Given the description of an element on the screen output the (x, y) to click on. 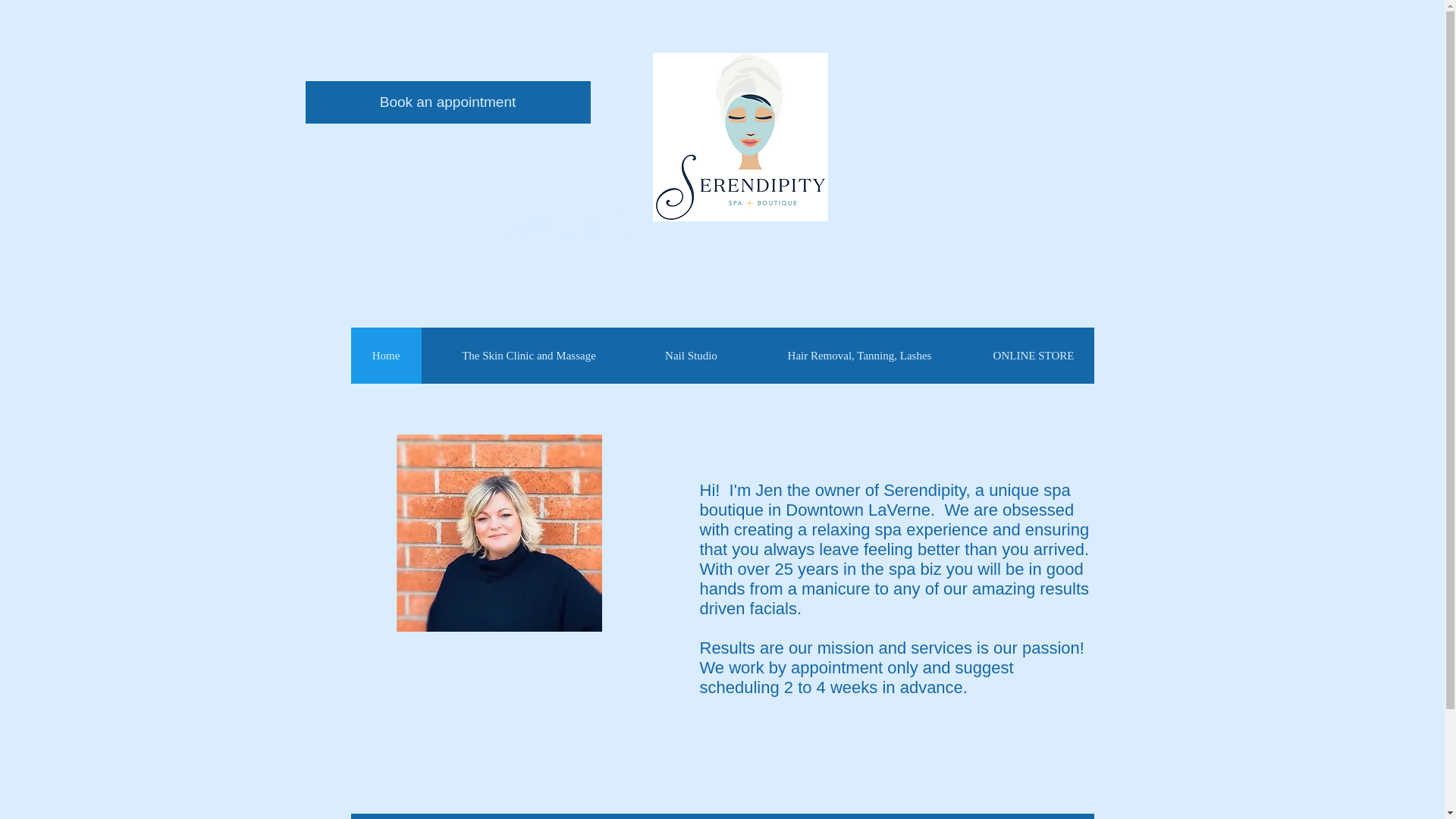
Home (385, 355)
Hair Removal, Tanning, Lashes (858, 355)
Book an appointment (446, 102)
The Skin Clinic and Massage (529, 355)
Nail Studio (689, 355)
